Given the description of an element on the screen output the (x, y) to click on. 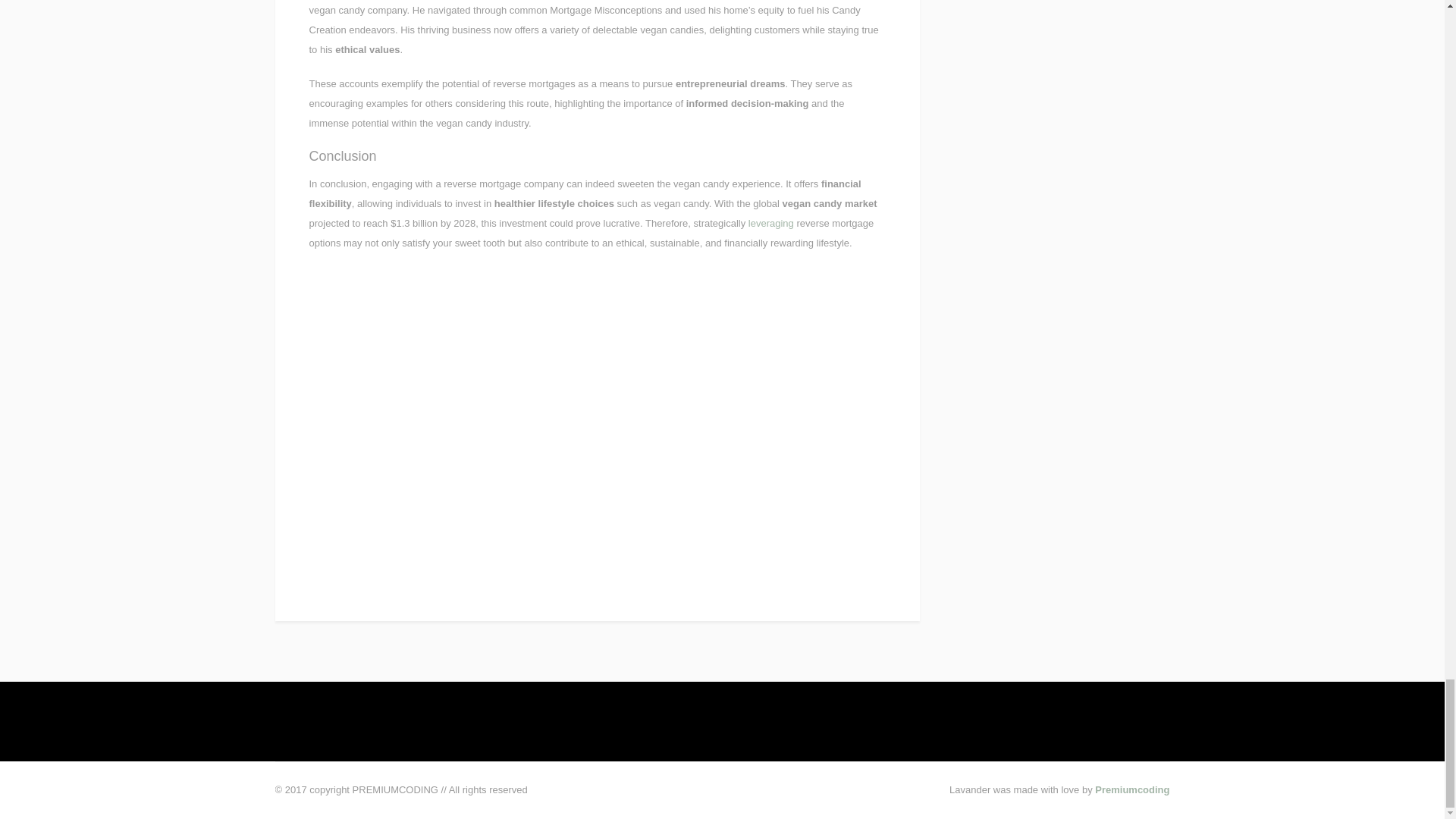
leveraging (770, 223)
Premiumcoding (1131, 789)
